Given the description of an element on the screen output the (x, y) to click on. 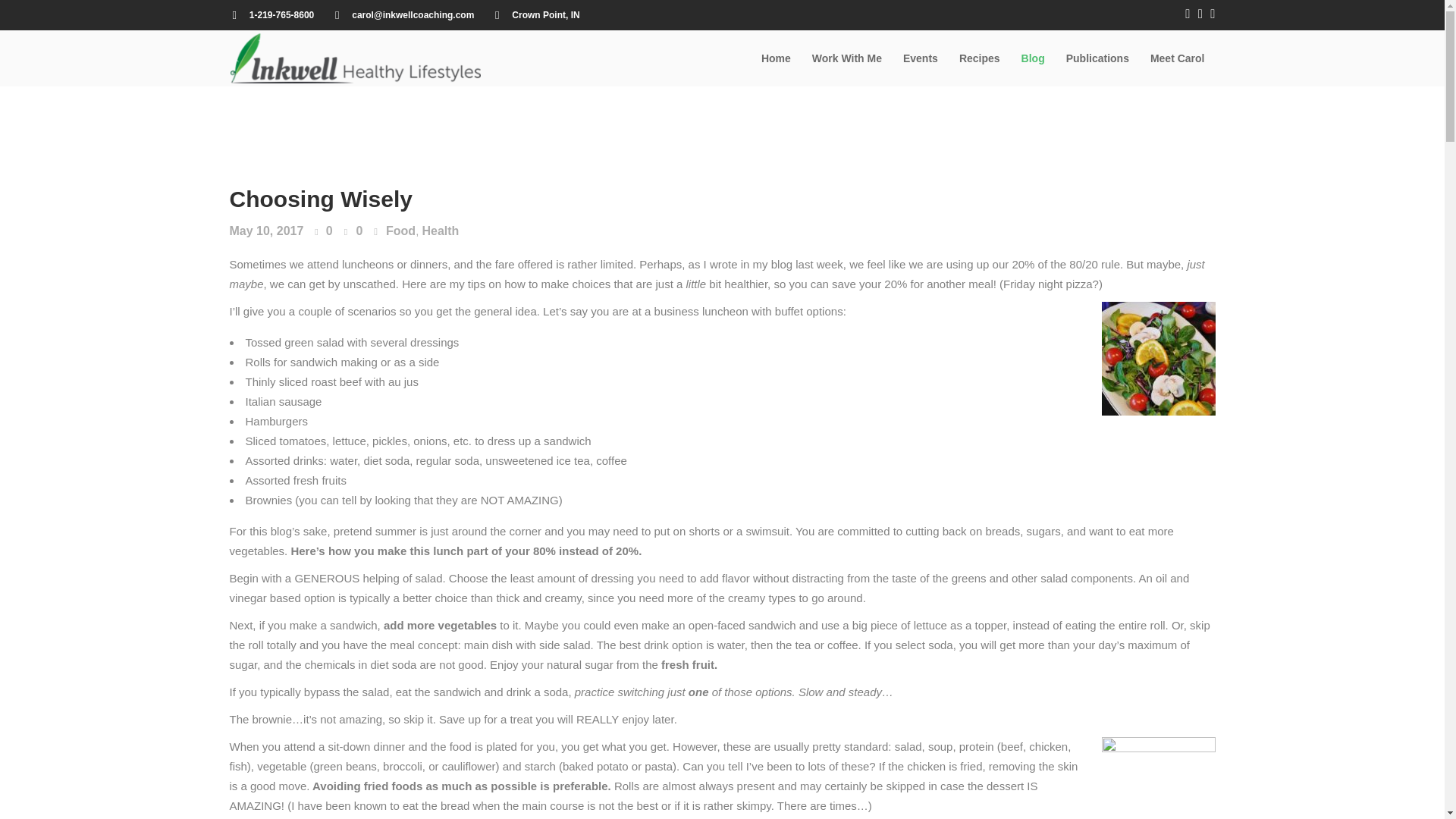
Work With Me (847, 58)
Recipes (979, 58)
Choosing Wisely (320, 198)
Like this (322, 231)
Home (776, 58)
Publications (1097, 58)
Meet Carol (1177, 58)
Events (920, 58)
